Given the description of an element on the screen output the (x, y) to click on. 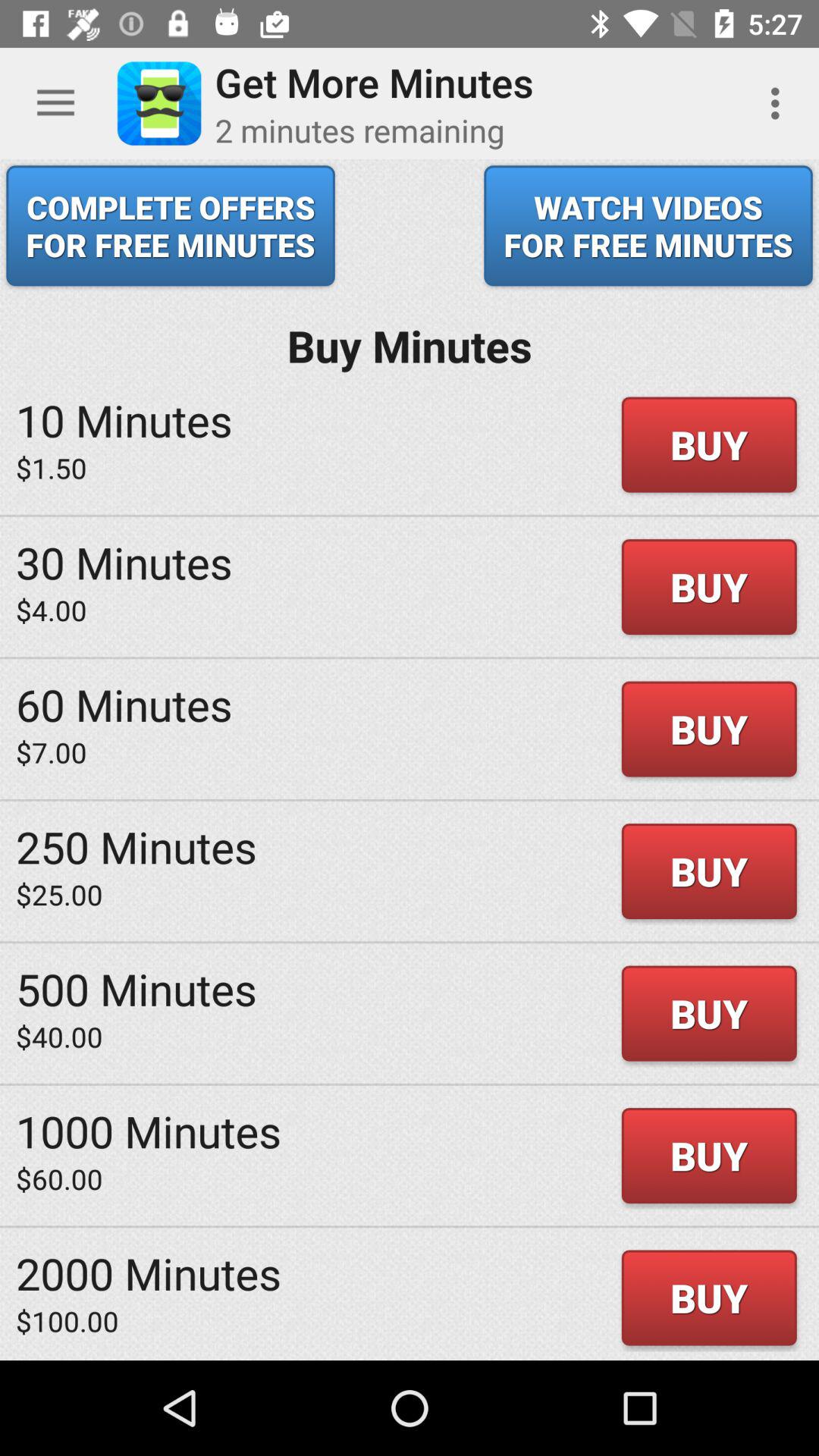
swipe to 60 minutes item (123, 704)
